Given the description of an element on the screen output the (x, y) to click on. 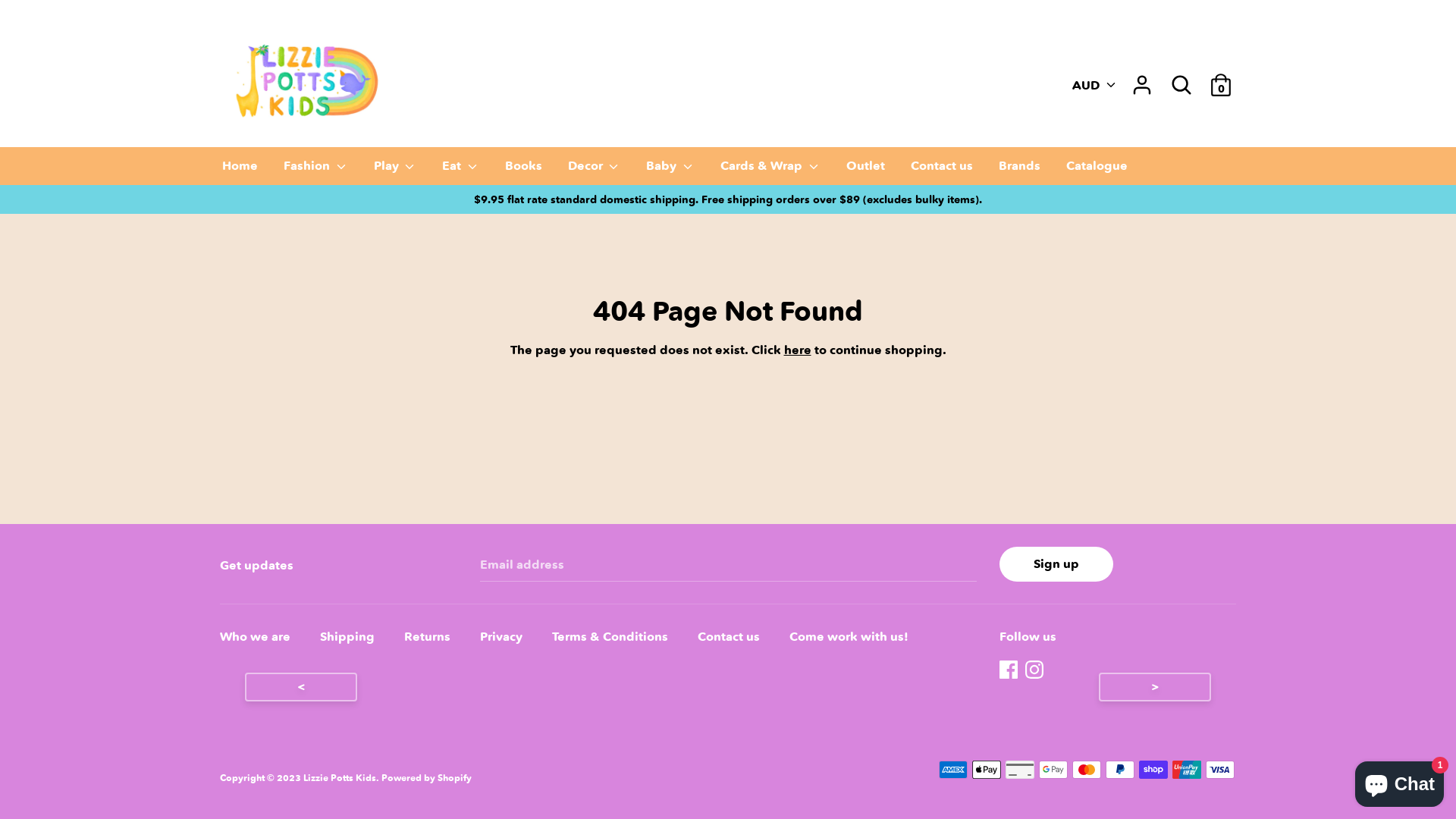
Lizzie Potts Kids Element type: text (339, 777)
Contact us Element type: text (941, 170)
Home Element type: text (239, 170)
Decor Element type: text (594, 170)
Terms & Conditions Element type: text (617, 638)
Baby Element type: text (670, 170)
Sign up Element type: text (1055, 563)
Returns Element type: text (434, 638)
Play Element type: text (395, 170)
> Element type: text (1154, 686)
Who we are Element type: text (262, 638)
Eat Element type: text (460, 170)
Fashion Element type: text (315, 170)
Facebook Element type: hover (1009, 669)
Privacy Element type: text (508, 638)
0 Element type: text (1220, 79)
Come work with us! Element type: text (856, 638)
< Element type: text (300, 686)
Shipping Element type: text (354, 638)
here Element type: text (797, 349)
Powered by Shopify Element type: text (426, 777)
Cards & Wrap Element type: text (770, 170)
Shopify online store chat Element type: hover (1399, 780)
Instagram Element type: hover (1035, 669)
Brands Element type: text (1019, 170)
Outlet Element type: text (865, 170)
Contact us Element type: text (736, 638)
Books Element type: text (523, 170)
Search Element type: text (1181, 84)
Catalogue Element type: text (1096, 170)
